Given the description of an element on the screen output the (x, y) to click on. 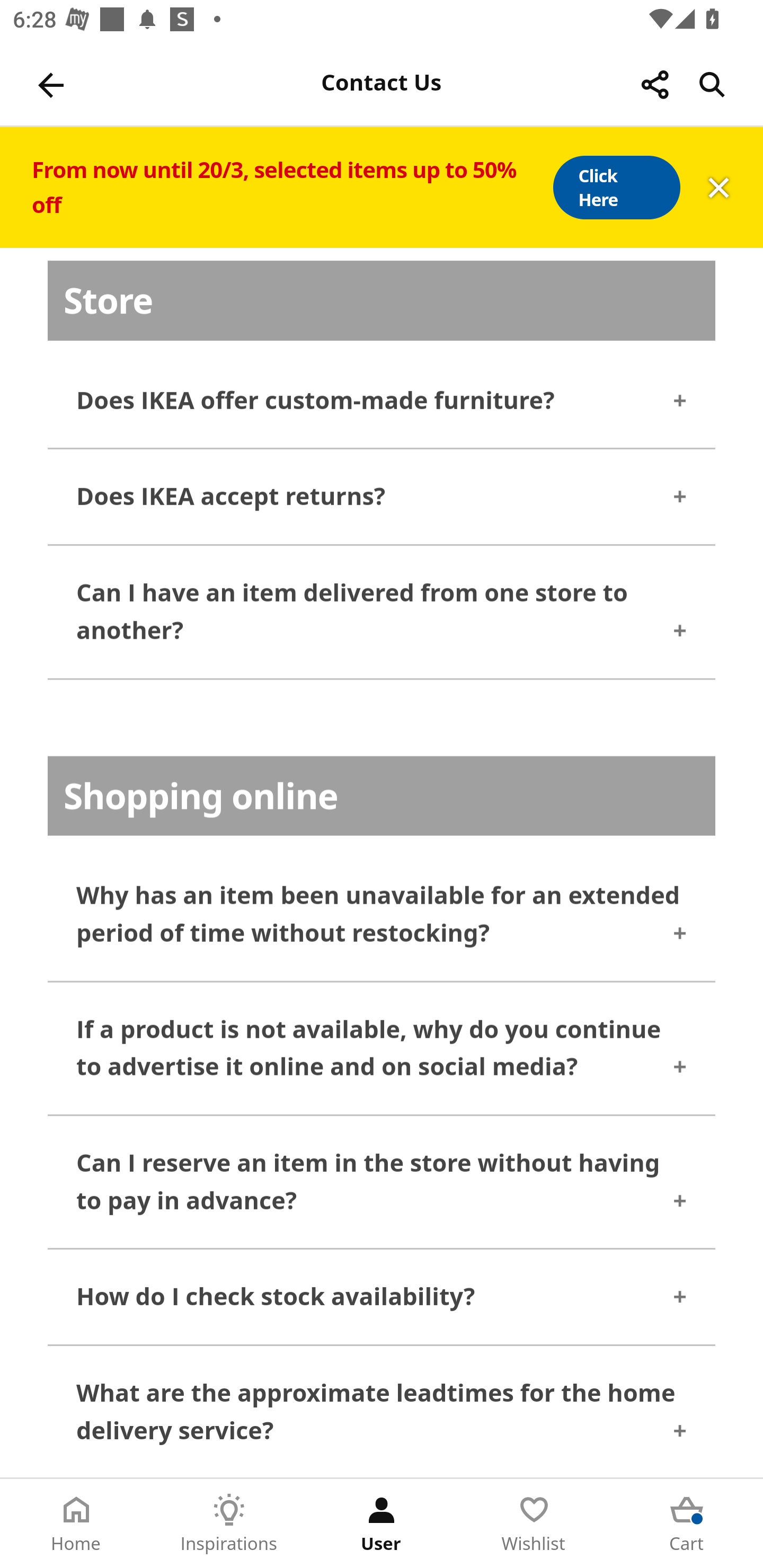
Click Here (615, 187)
Does IKEA offer custom-made furniture? + (381, 401)
Does IKEA accept returns? + (381, 497)
How do I check stock availability? + (381, 1297)
Home
Tab 1 of 5 (76, 1522)
Inspirations
Tab 2 of 5 (228, 1522)
User
Tab 3 of 5 (381, 1522)
Wishlist
Tab 4 of 5 (533, 1522)
Cart
Tab 5 of 5 (686, 1522)
